Given the description of an element on the screen output the (x, y) to click on. 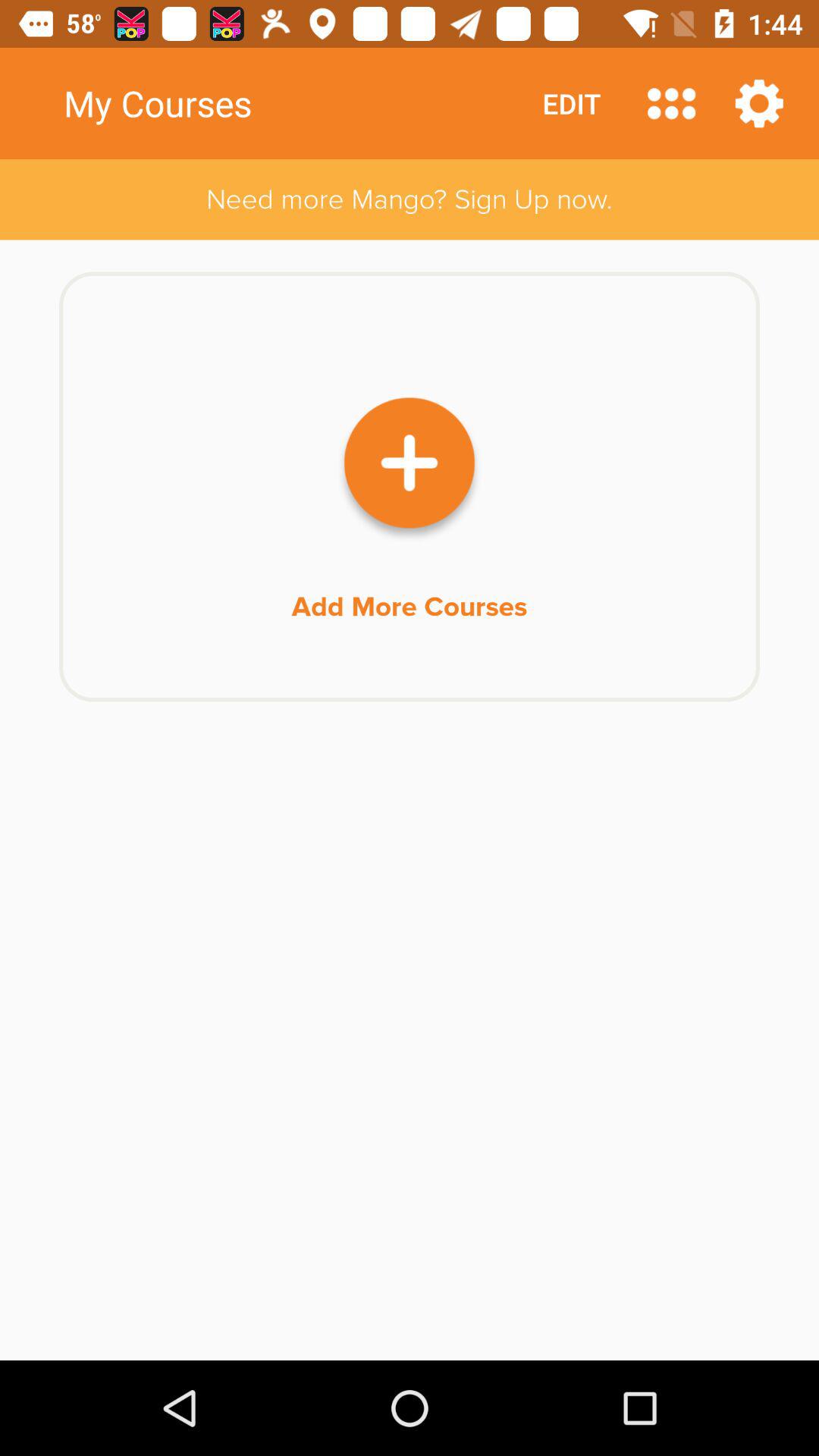
select to setting option (759, 103)
